Given the description of an element on the screen output the (x, y) to click on. 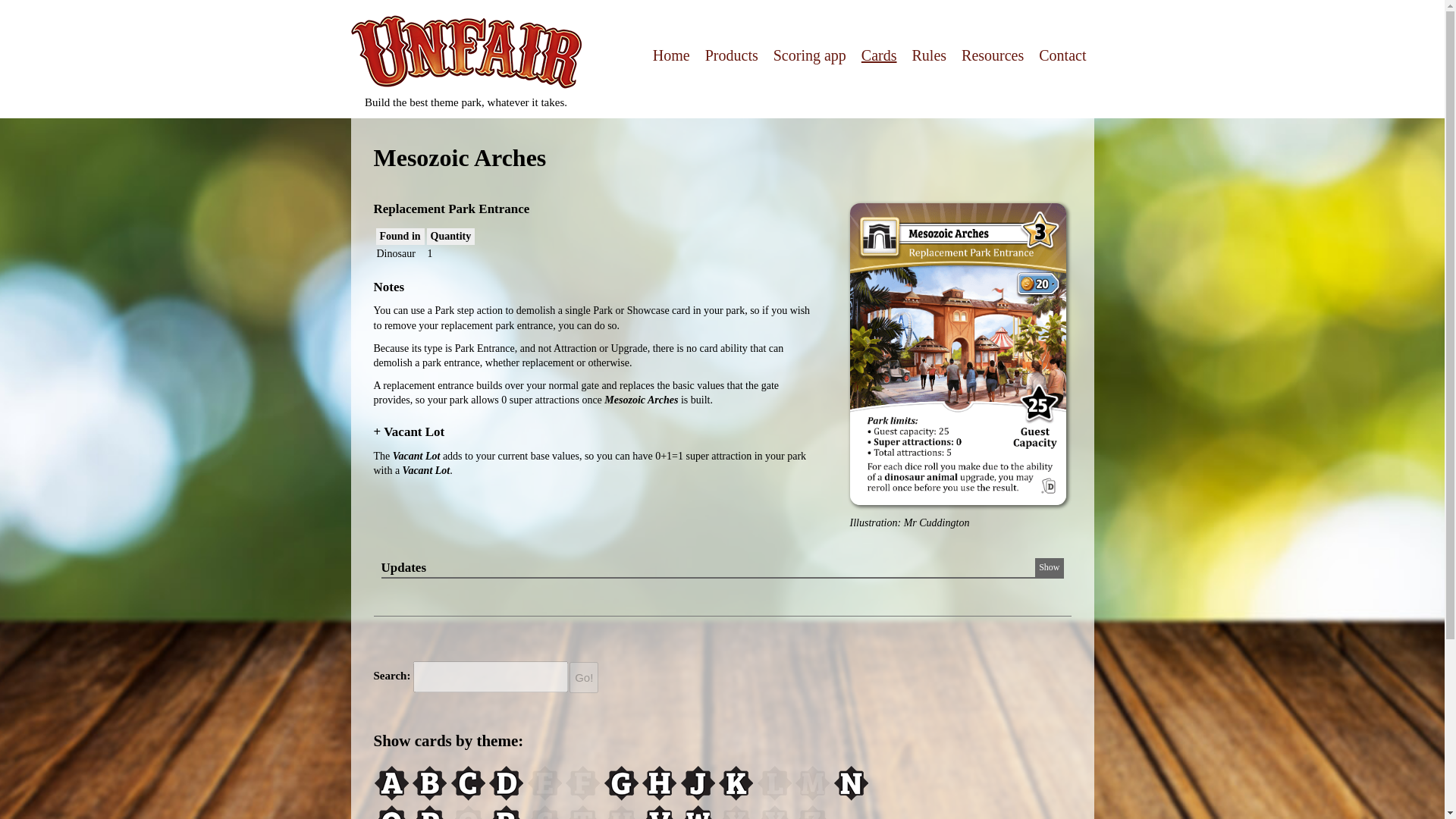
Contact (1062, 55)
Go! (583, 676)
Scoring app (809, 55)
Rules (929, 55)
Cards (878, 55)
Products (731, 55)
Resources (991, 55)
Home (671, 55)
